Given the description of an element on the screen output the (x, y) to click on. 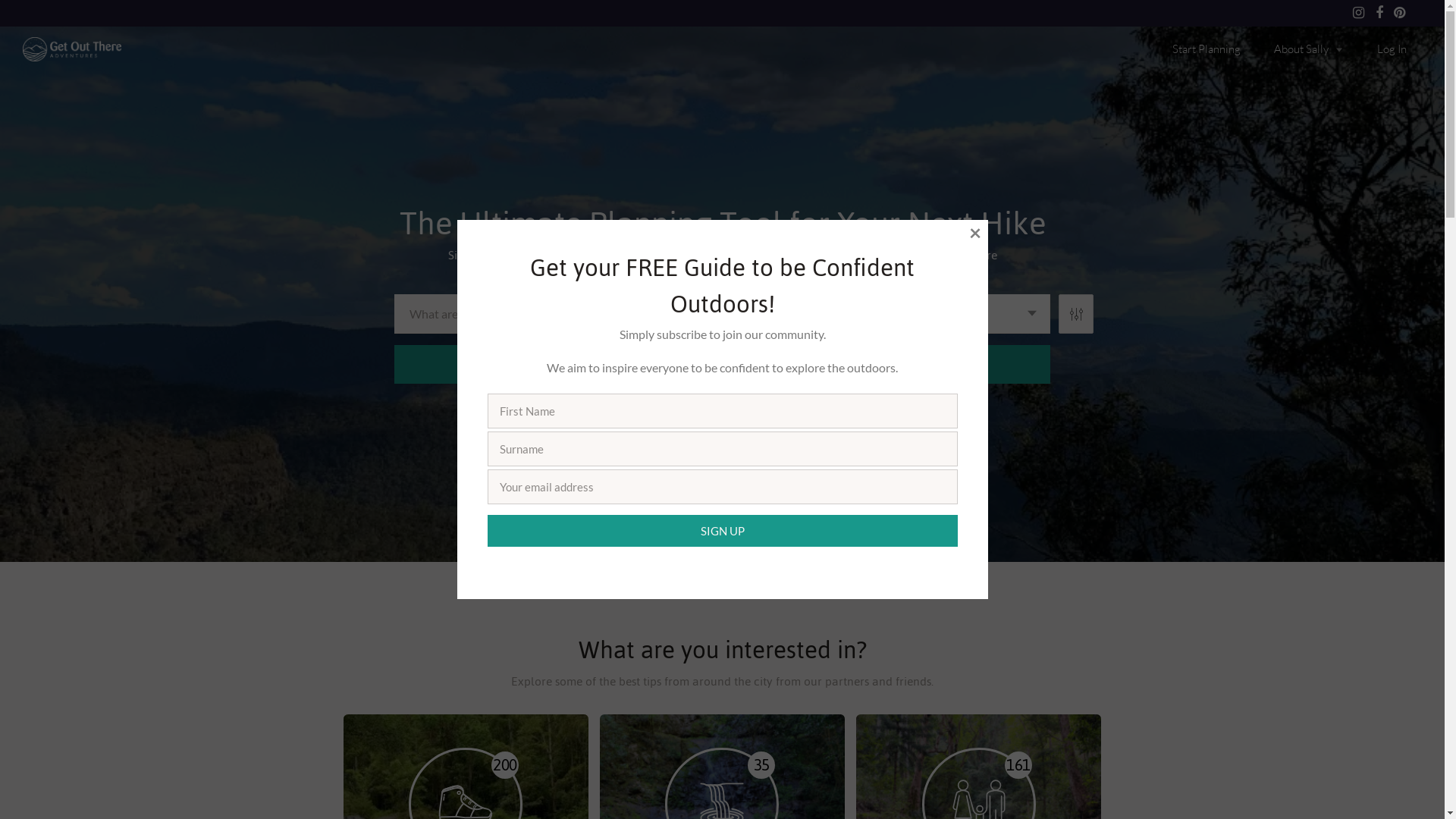
Hiking Element type: text (650, 492)
About Sally Element type: text (1306, 49)
Start Planning Element type: text (1204, 49)
Log In Element type: text (1389, 49)
Search Element type: text (721, 364)
Sign up Element type: text (721, 530)
